Given the description of an element on the screen output the (x, y) to click on. 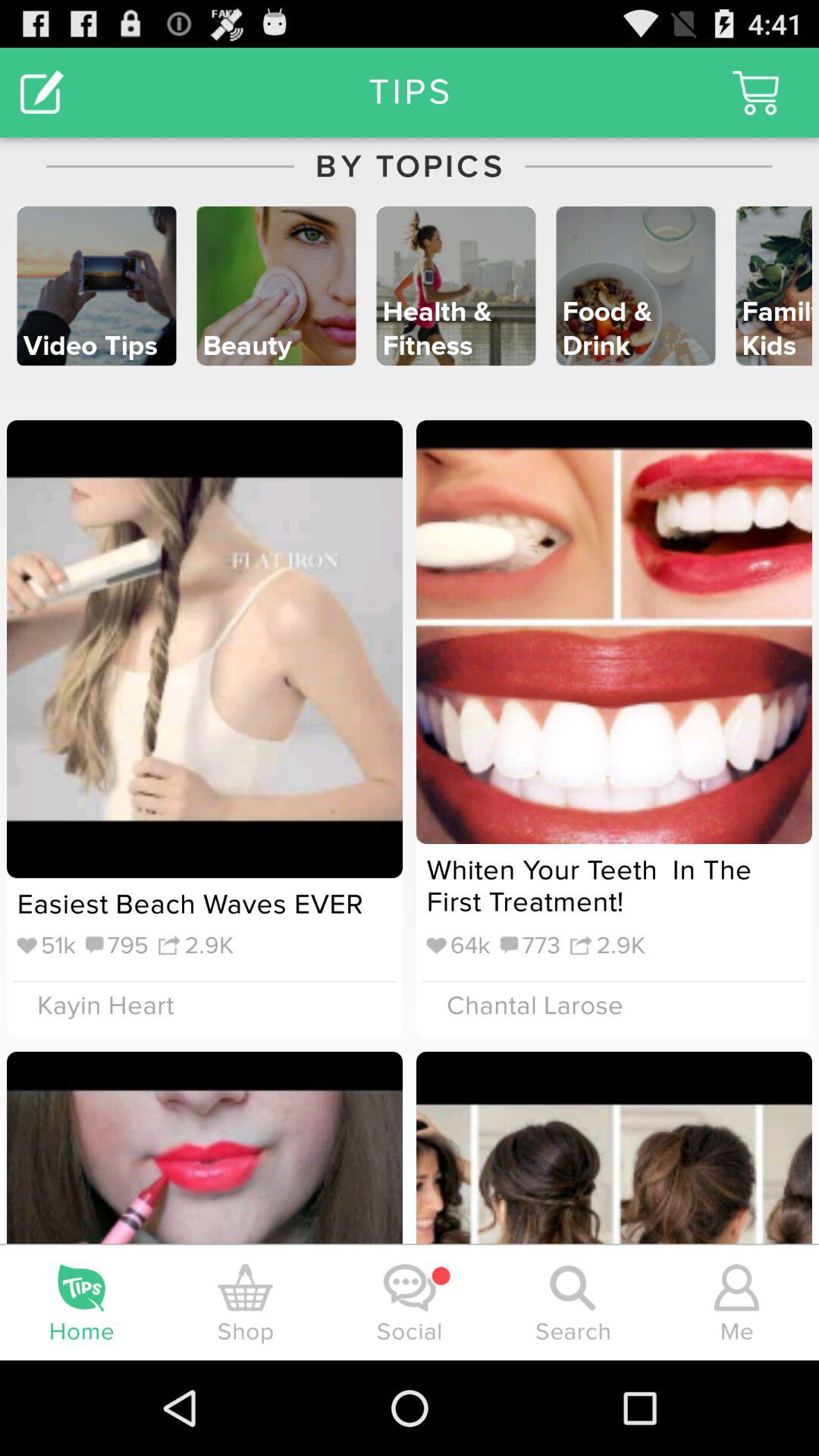
click on the button at the top left corner of the page (42, 92)
click the social icon (409, 1287)
click on icon above me (736, 1287)
click on the image under video tips (204, 648)
